Given the description of an element on the screen output the (x, y) to click on. 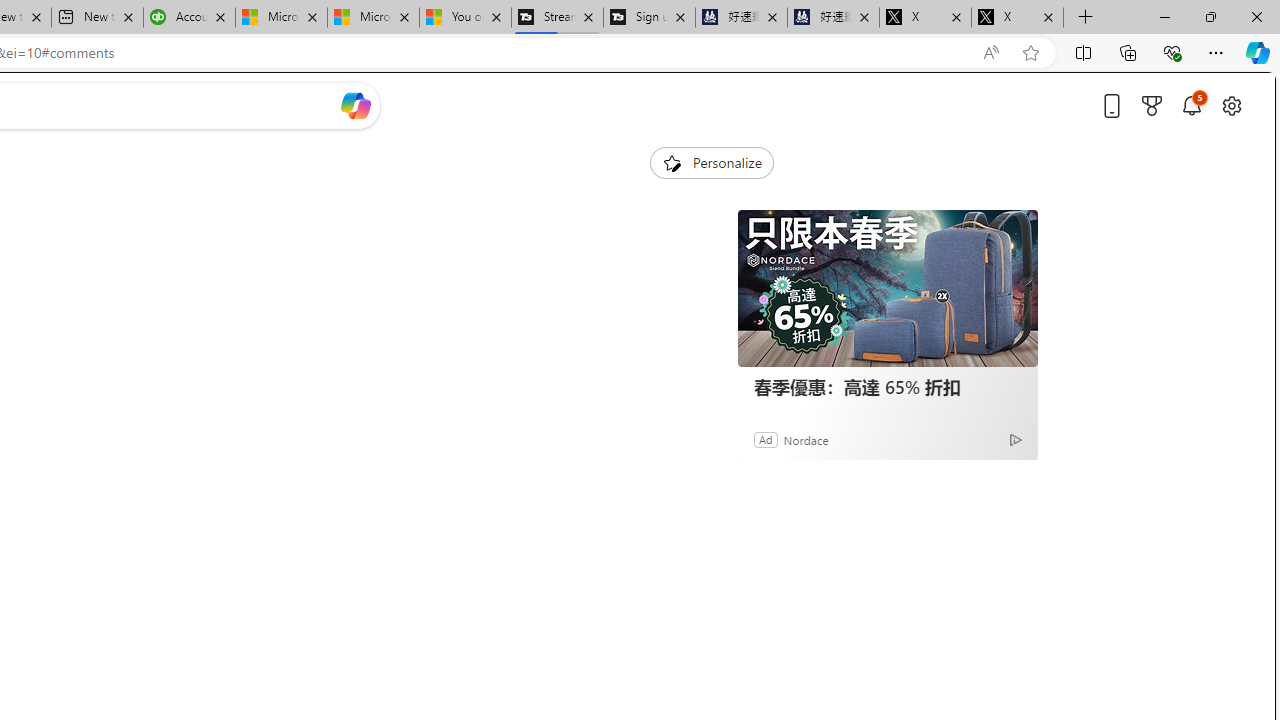
Microsoft Start Sports (280, 17)
Ad Choice (1015, 439)
X (1017, 17)
Open settings (1231, 105)
Microsoft Start (372, 17)
